Given the description of an element on the screen output the (x, y) to click on. 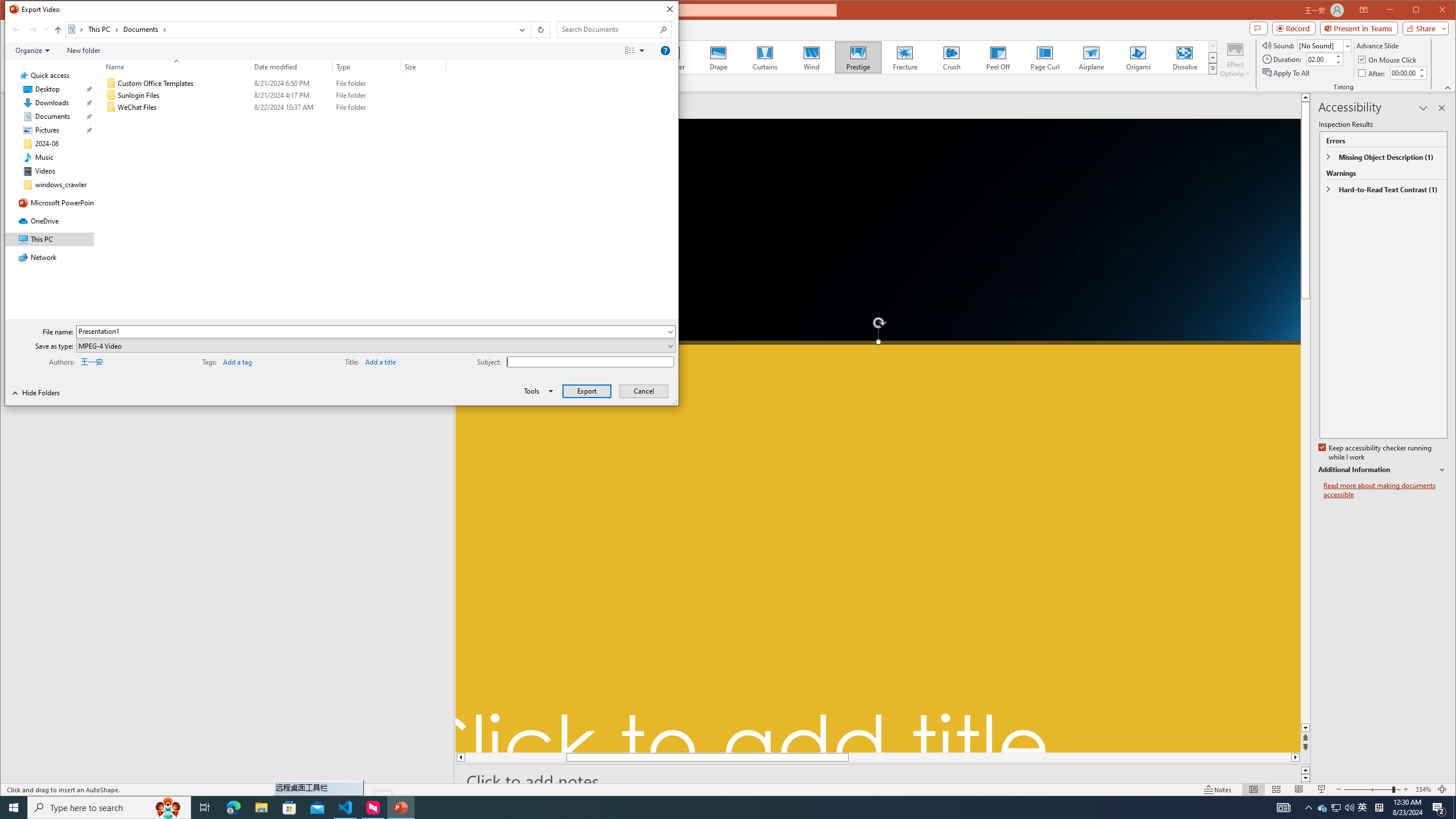
Airplane (1091, 57)
&Help (665, 50)
Tags (258, 361)
Sunlogin Files (273, 95)
Up to "This PC" (Alt + Up Arrow) (57, 29)
File name: (370, 331)
Tools (536, 390)
Class: UIImage (111, 107)
Forward (Alt + Right Arrow) (33, 29)
